Given the description of an element on the screen output the (x, y) to click on. 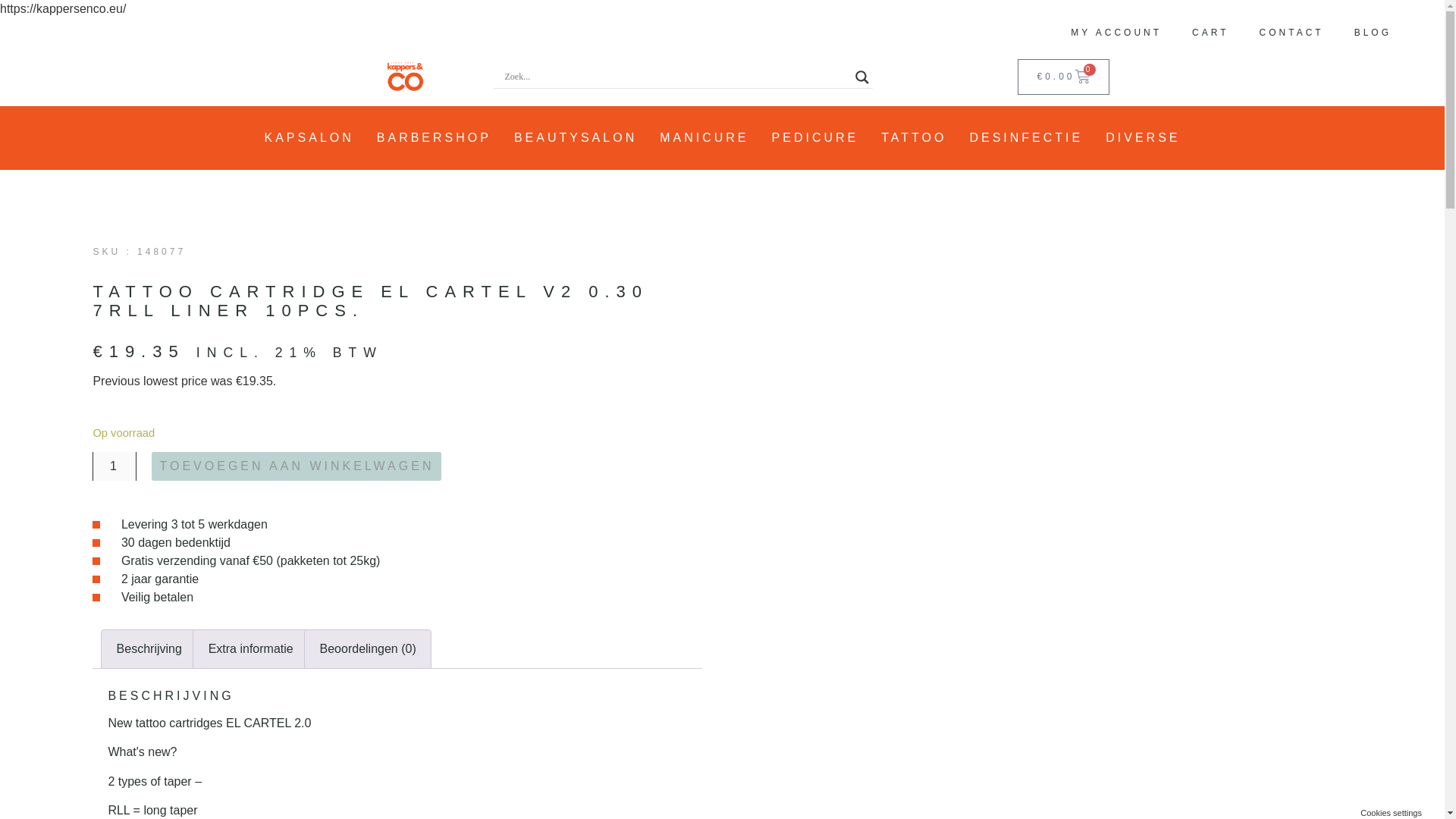
1 (114, 466)
Transparant Oranje Kappers Co Kappers Co (406, 76)
KAPSALON (308, 137)
MY ACCOUNT (1115, 32)
BLOG (1372, 32)
CART (1209, 32)
CONTACT (1291, 32)
